Given the description of an element on the screen output the (x, y) to click on. 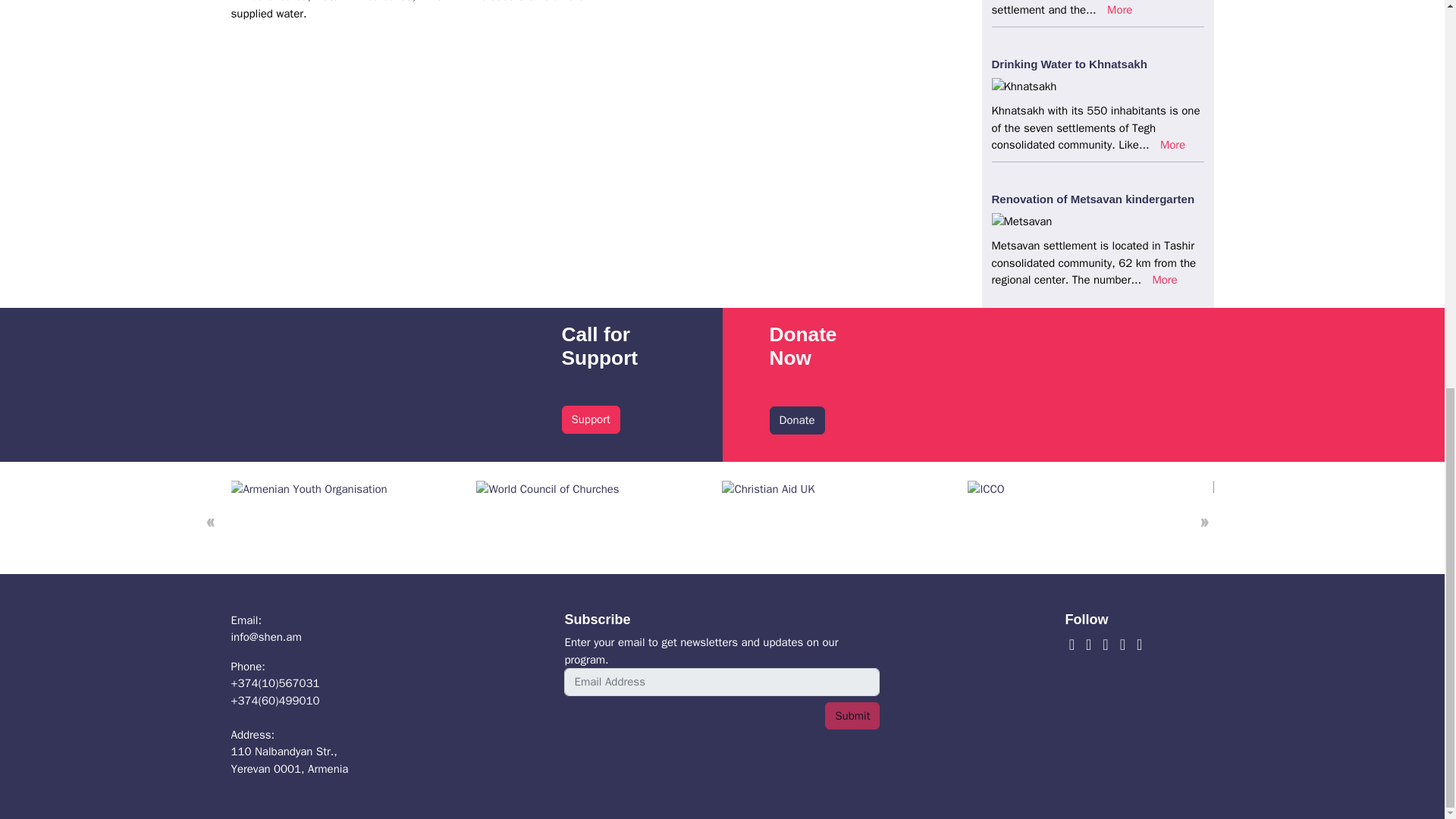
Donate (796, 420)
More (1172, 144)
Drinking Water to Khnatsakh (1069, 63)
Submit (852, 715)
More (986, 488)
Drinking Water to Khnatsakh (1163, 279)
Support (308, 488)
